Given the description of an element on the screen output the (x, y) to click on. 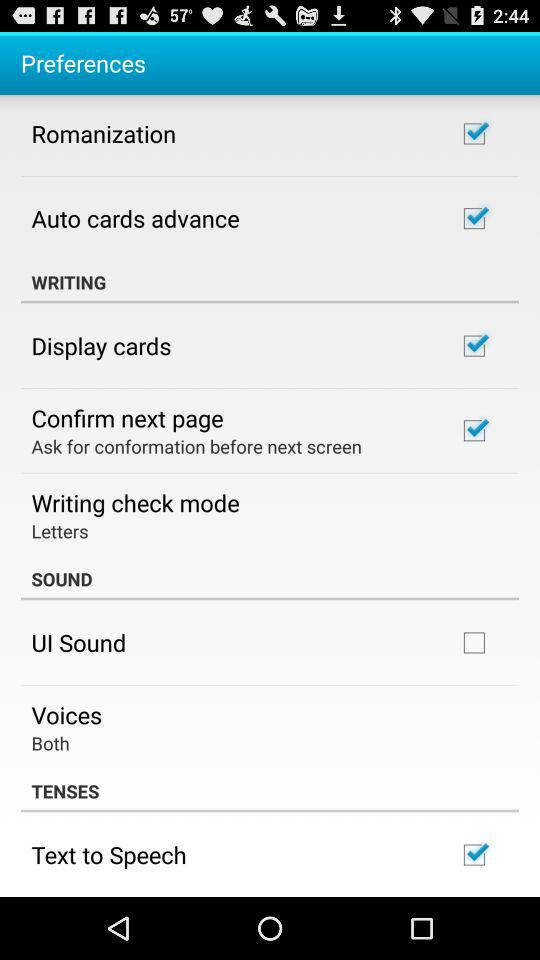
click the app below ask for conformation app (135, 502)
